Given the description of an element on the screen output the (x, y) to click on. 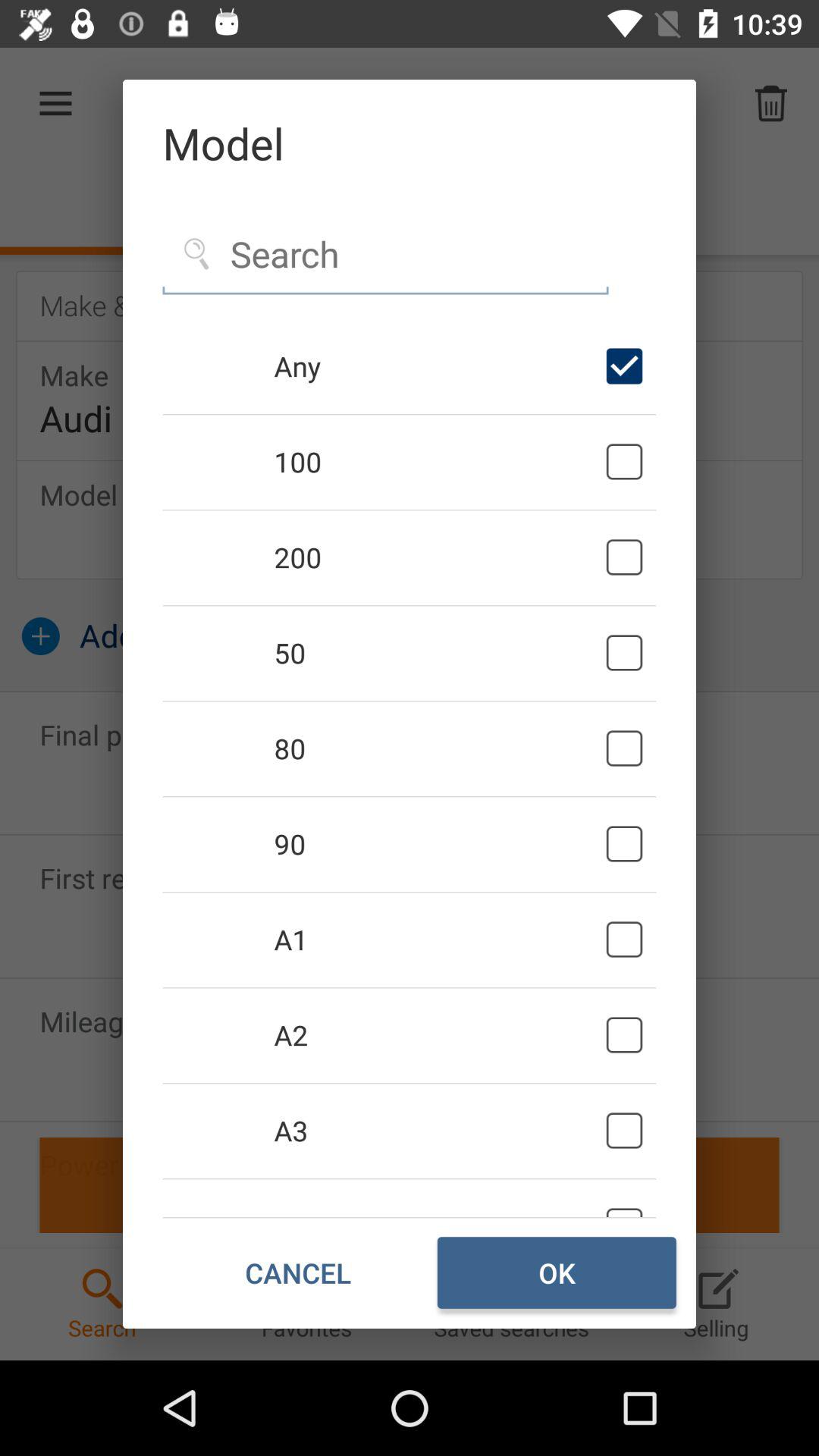
turn off the icon below 90 icon (437, 939)
